Given the description of an element on the screen output the (x, y) to click on. 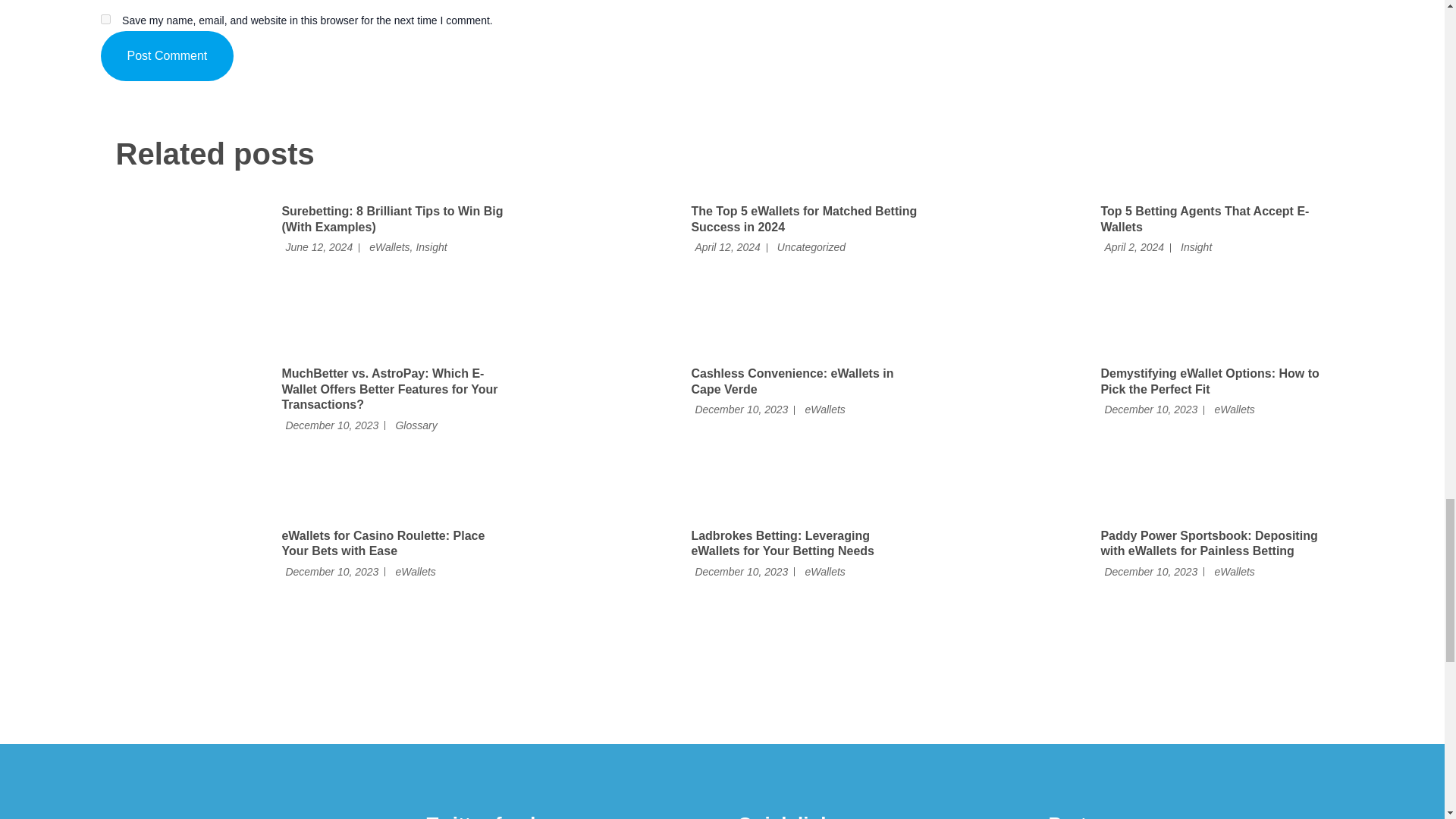
yes (105, 19)
Post Comment (166, 56)
